Given the description of an element on the screen output the (x, y) to click on. 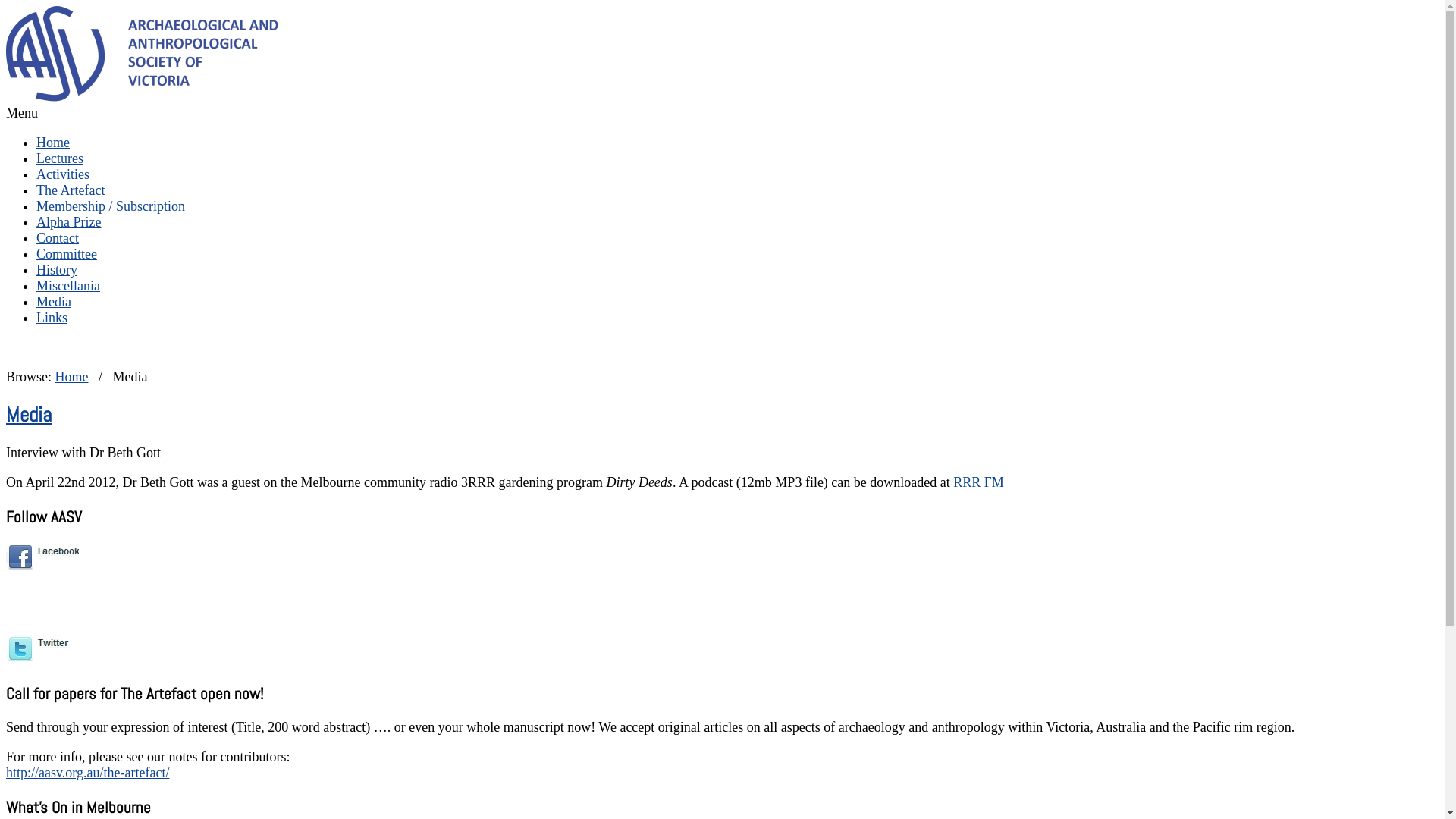
Miscellania Element type: text (68, 285)
RRR FM Element type: text (978, 481)
Activities Element type: text (62, 174)
Media Element type: text (28, 414)
Media Element type: text (53, 301)
Committee Element type: text (66, 253)
Lectures Element type: text (59, 158)
History Element type: text (56, 269)
Membership / Subscription Element type: text (110, 205)
The Artefact Element type: text (70, 189)
Links Element type: text (51, 317)
Alpha Prize Element type: text (68, 221)
Contact Element type: text (57, 237)
Home Element type: text (70, 376)
AASV Element type: hover (166, 96)
http://aasv.org.au/the-artefact/ Element type: text (87, 772)
Home Element type: text (52, 142)
